Given the description of an element on the screen output the (x, y) to click on. 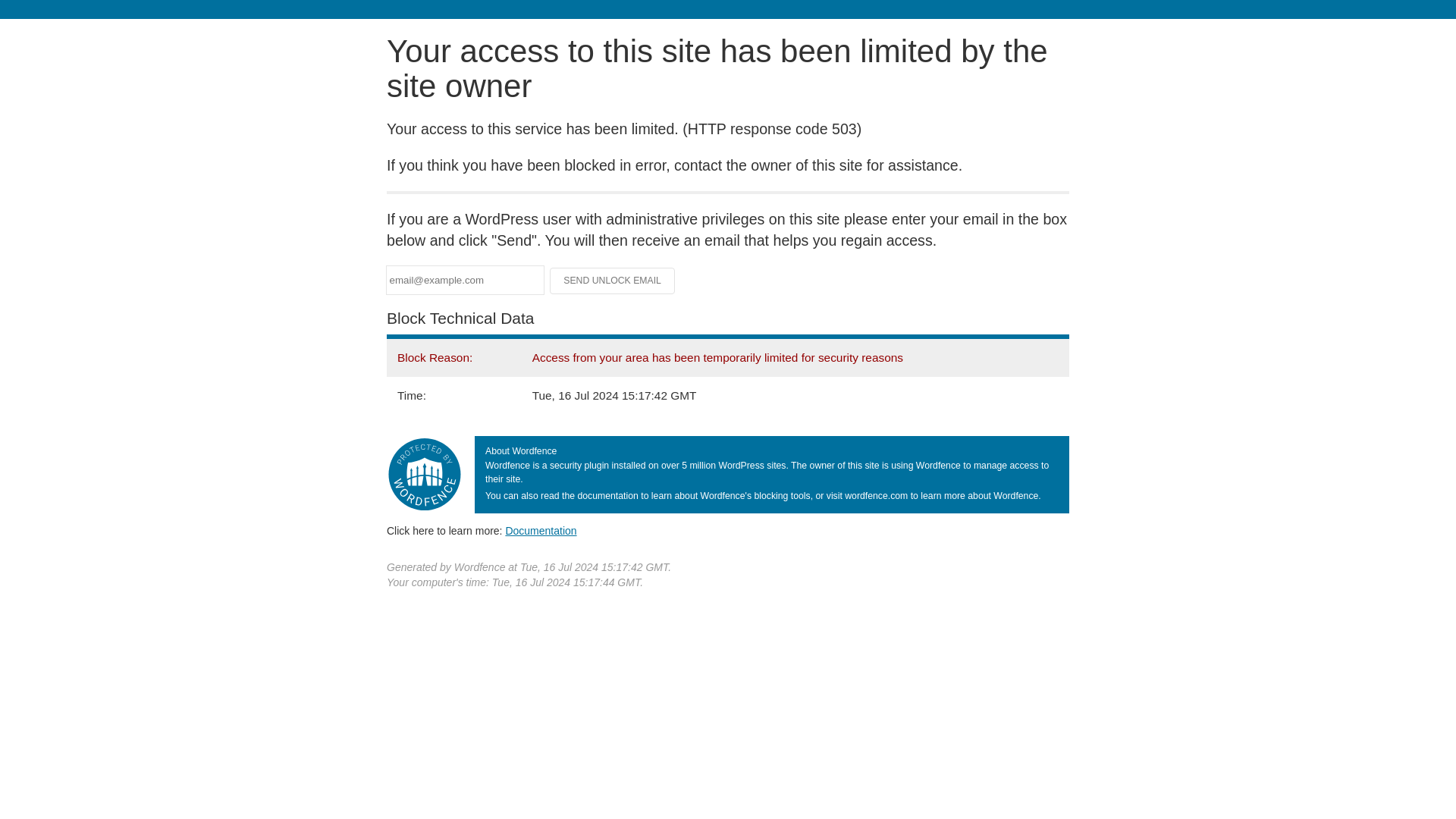
Send Unlock Email (612, 280)
Send Unlock Email (612, 280)
